Given the description of an element on the screen output the (x, y) to click on. 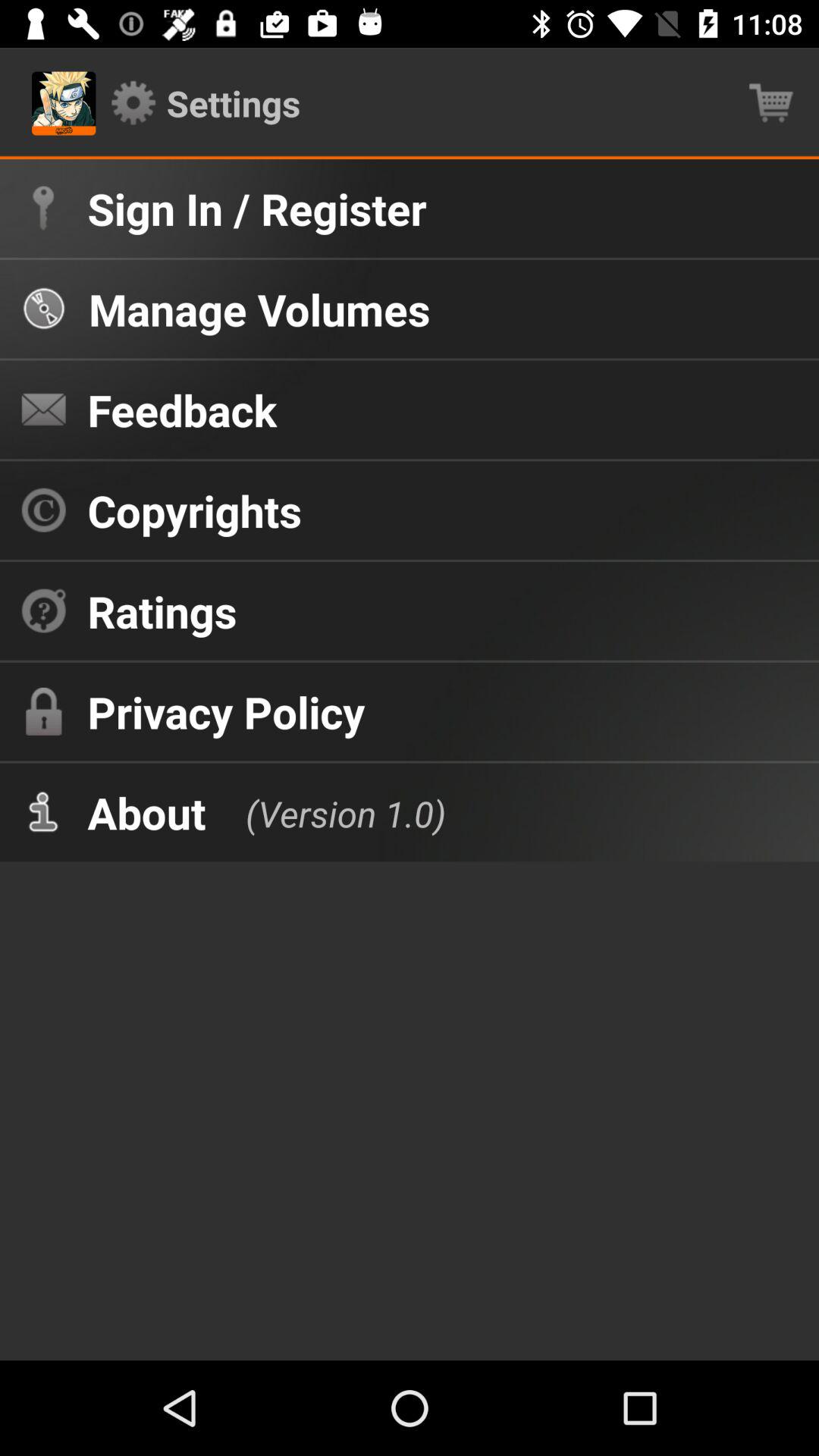
select the icon next to (version 1.0) (146, 812)
